Given the description of an element on the screen output the (x, y) to click on. 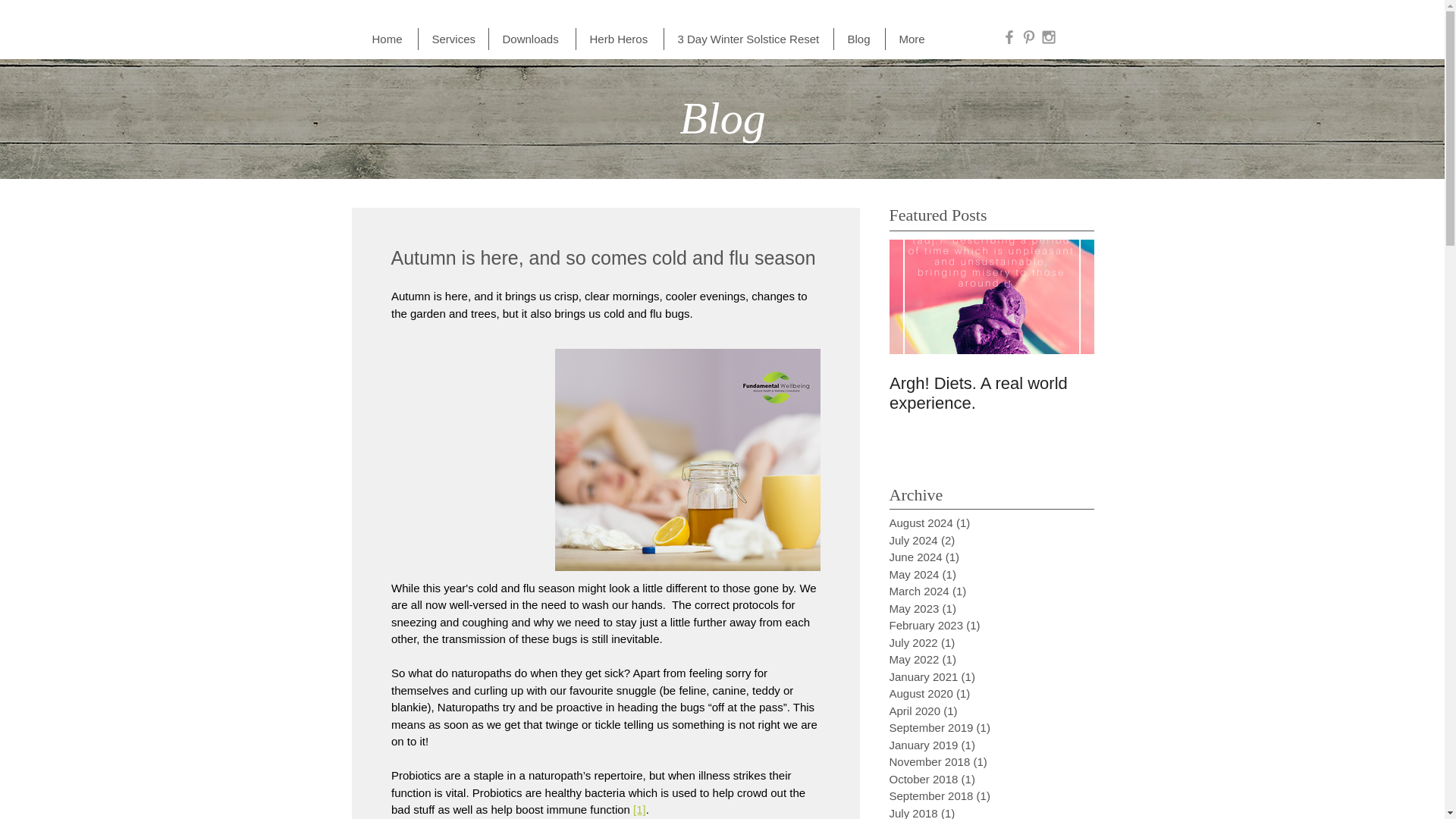
Home (387, 38)
Herb Heros (619, 38)
Downloads (531, 38)
3 Day Winter Solstice Reset (747, 38)
Blog (859, 38)
Services (453, 38)
Argh! Diets. A real world experience. (990, 393)
